Given the description of an element on the screen output the (x, y) to click on. 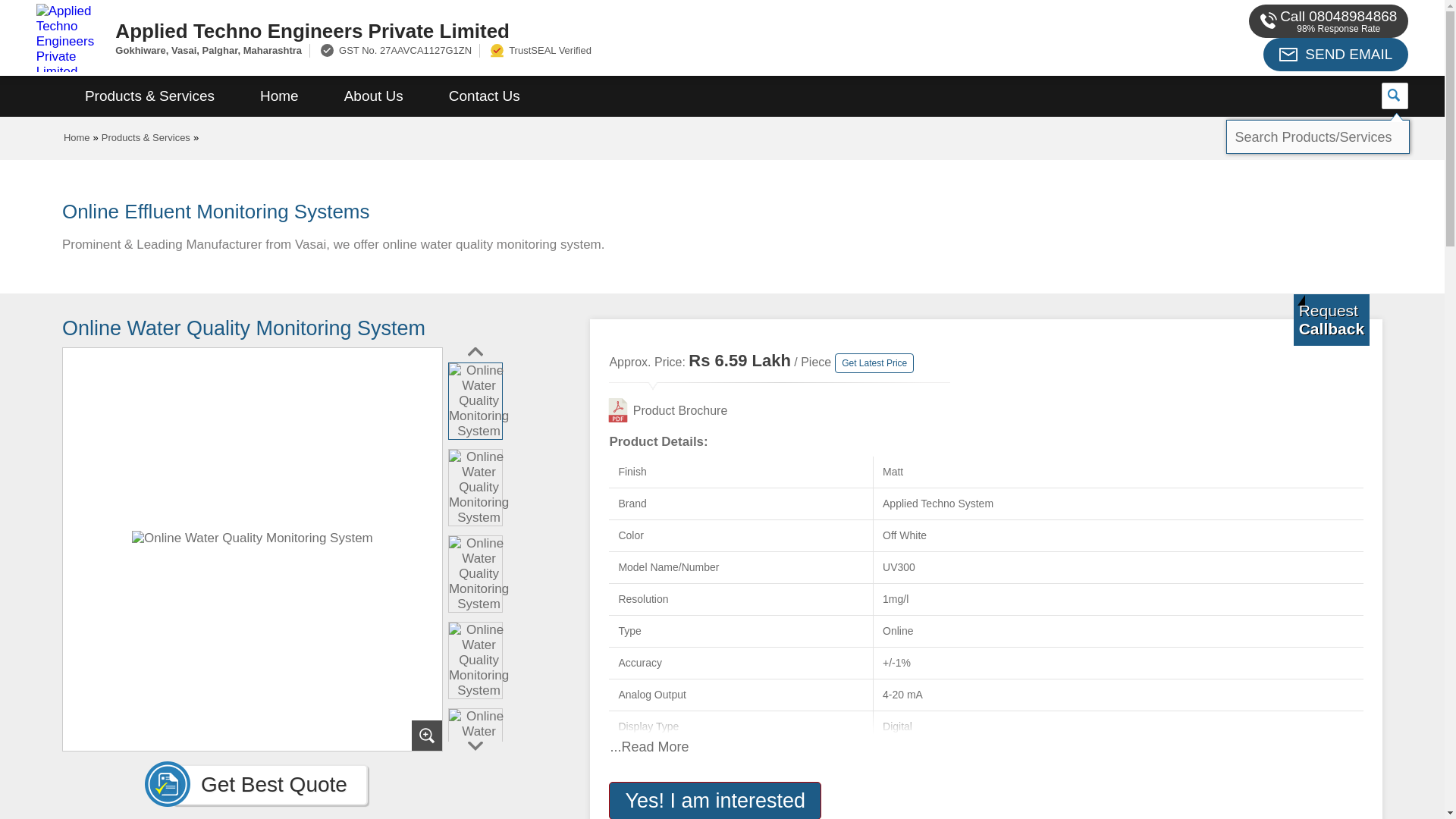
About Us (373, 96)
Home (279, 96)
Applied Techno Engineers Private Limited (552, 31)
Home (77, 137)
Get a Call from us (1332, 319)
Contact Us (484, 96)
